Given the description of an element on the screen output the (x, y) to click on. 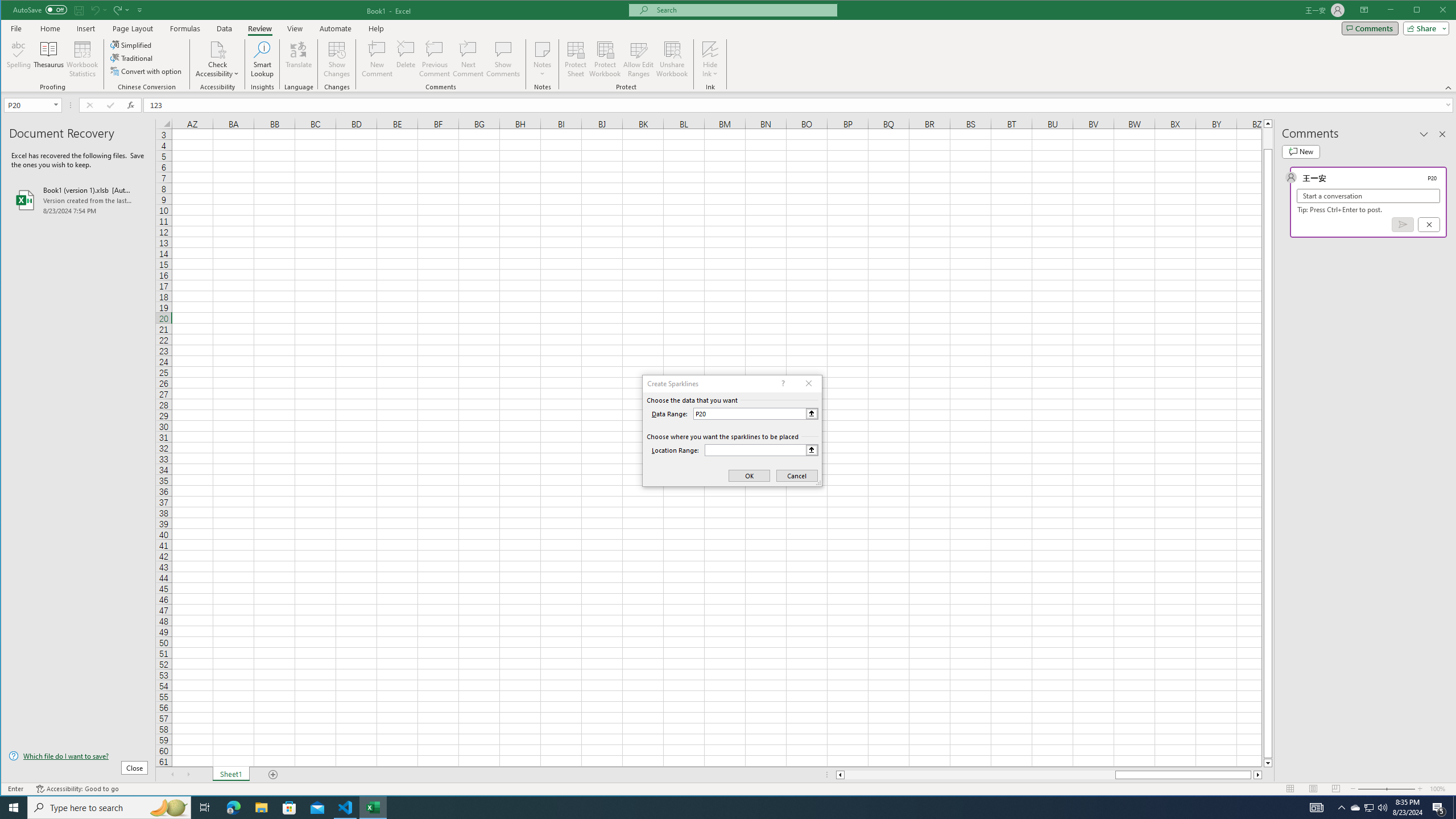
Previous Comment (434, 59)
Next Comment (467, 59)
Page up (1267, 138)
Spelling... (18, 59)
